Given the description of an element on the screen output the (x, y) to click on. 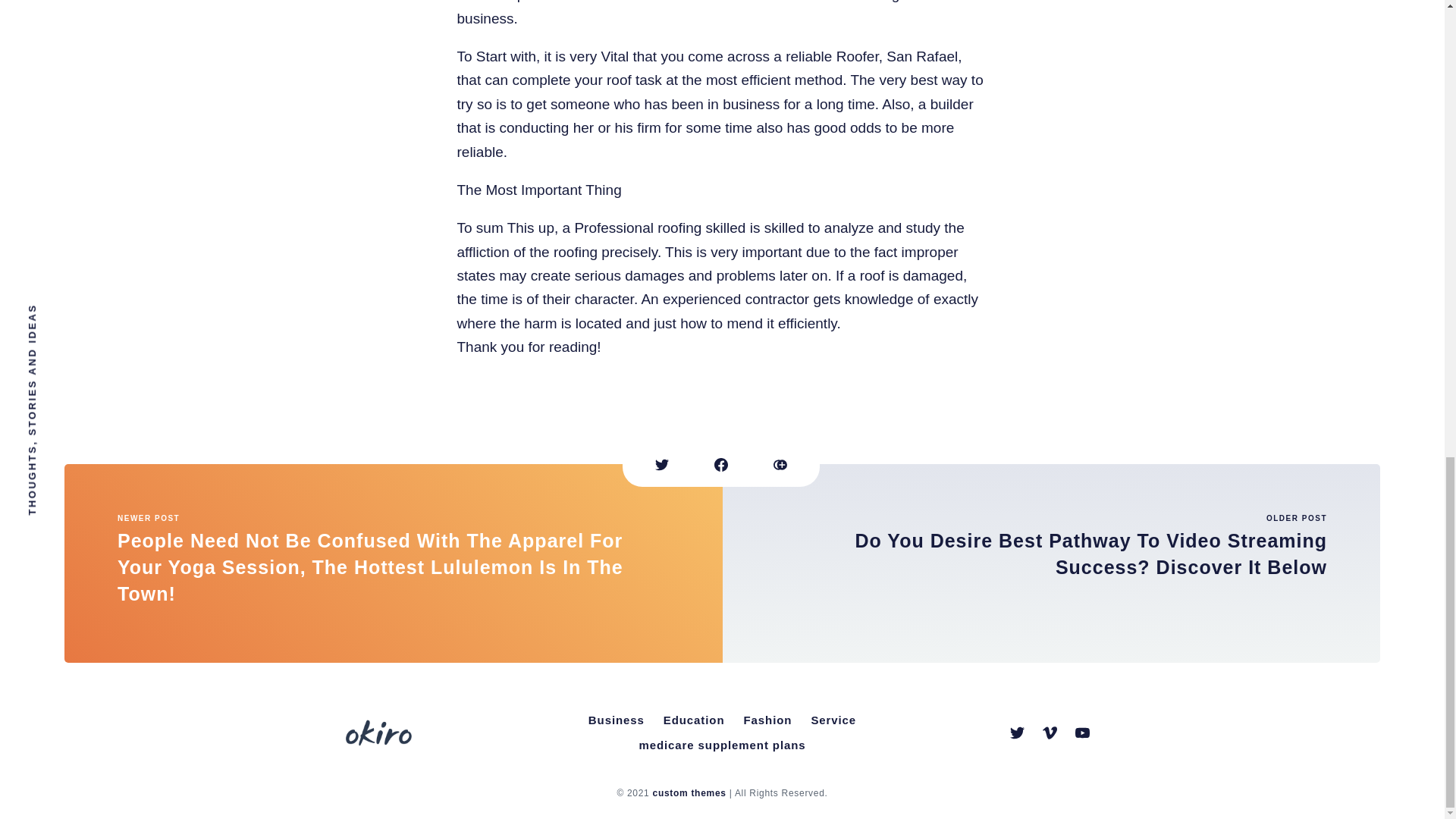
custom themes (689, 792)
Education (694, 720)
Business (616, 720)
medicare supplement plans (721, 745)
Service (833, 720)
Fashion (767, 720)
